Given the description of an element on the screen output the (x, y) to click on. 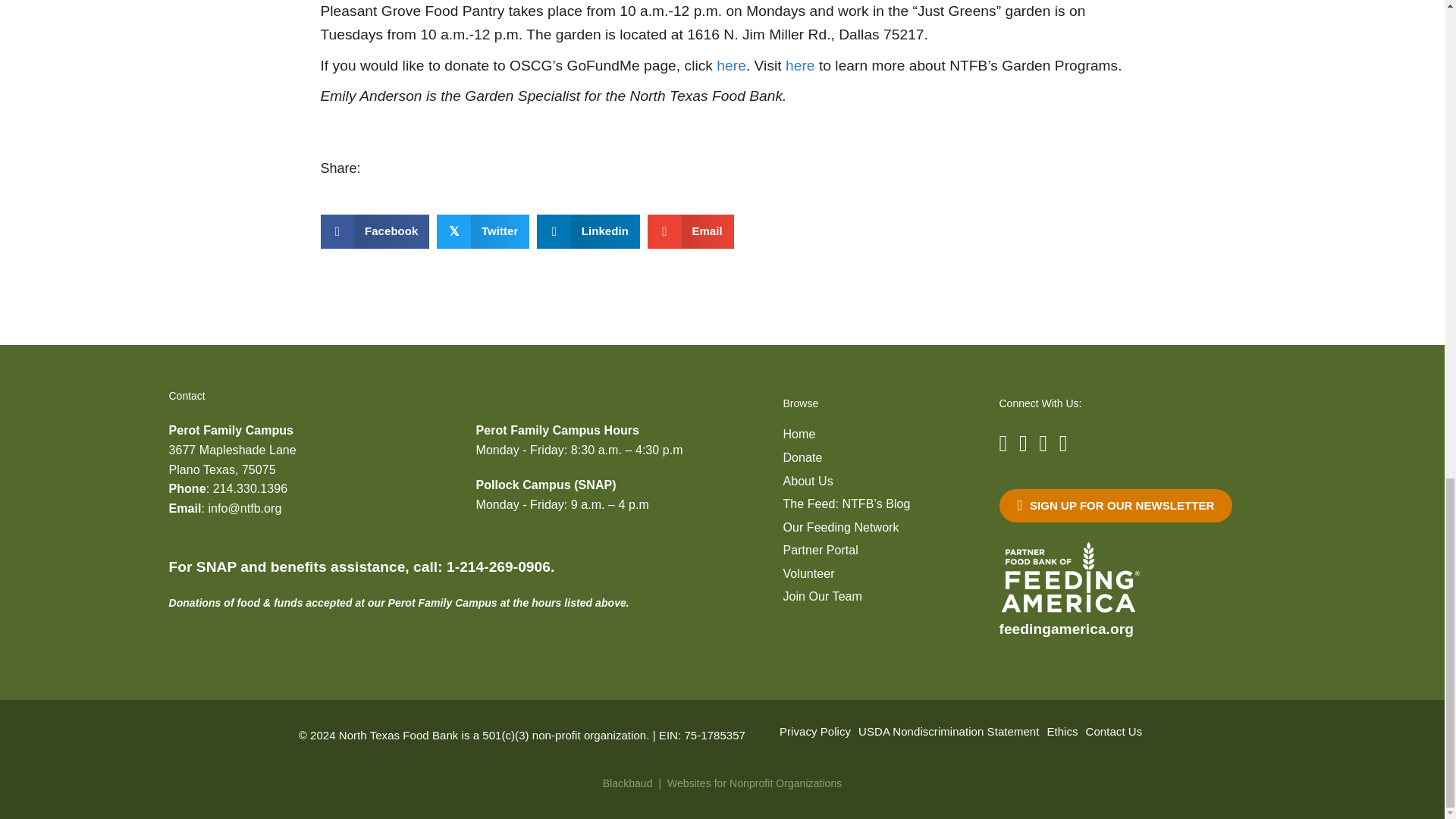
Partner Food Bank Of FA 1 C White Copy (1068, 578)
